Given the description of an element on the screen output the (x, y) to click on. 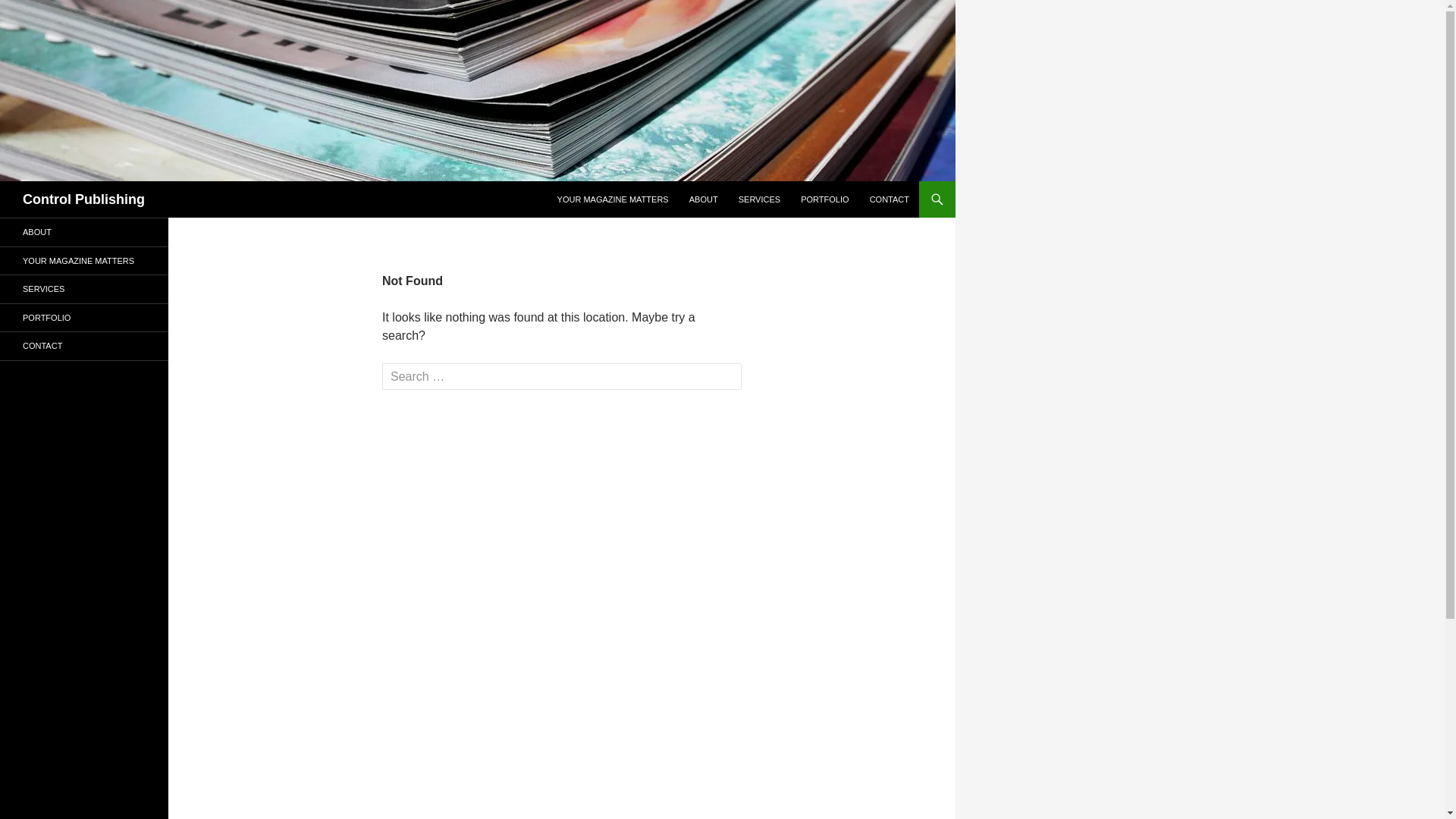
CONTACT Element type: text (84, 346)
SERVICES Element type: text (84, 289)
CONTACT Element type: text (889, 199)
Search Element type: text (42, 13)
PORTFOLIO Element type: text (824, 199)
PORTFOLIO Element type: text (84, 317)
YOUR MAGAZINE MATTERS Element type: text (84, 261)
YOUR MAGAZINE MATTERS Element type: text (612, 199)
SERVICES Element type: text (759, 199)
SKIP TO CONTENT Element type: text (556, 180)
ABOUT Element type: text (84, 232)
Control Publishing Element type: text (83, 199)
Search Element type: text (3, 180)
ABOUT Element type: text (703, 199)
